Given the description of an element on the screen output the (x, y) to click on. 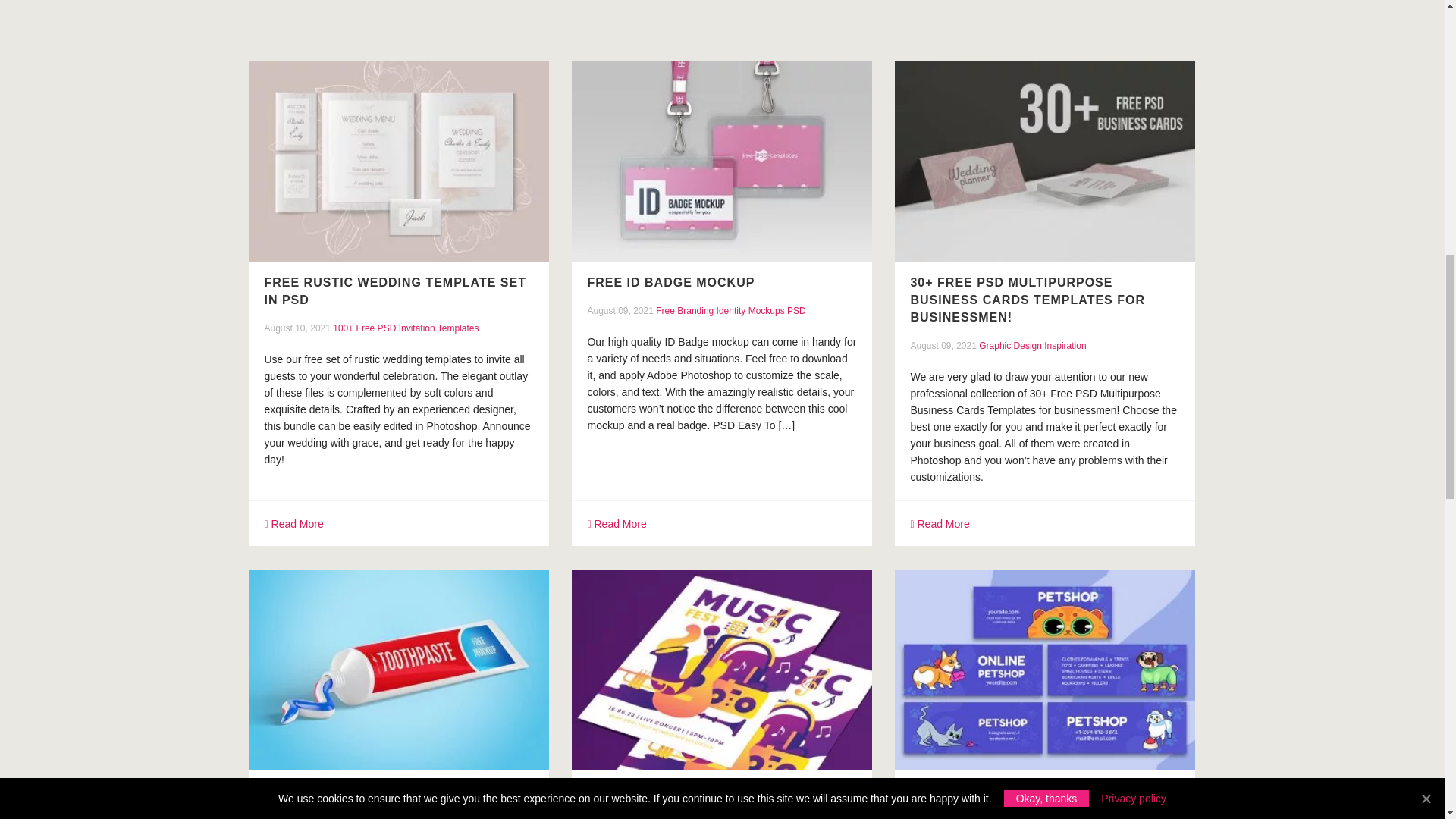
Free Toothpaste Mockup (398, 670)
Free ID Badge Mockup (722, 161)
Free Rustic Wedding Template Set in PSD (398, 161)
Free Music Fest Flyer Template (707, 790)
Free Music Fest Flyer Template (722, 670)
Free Toothpaste Mockup (359, 790)
Free Rustic Wedding Template Set in PSD (394, 291)
Advertisement (703, 18)
Free ID Badge Mockup (670, 282)
